Given the description of an element on the screen output the (x, y) to click on. 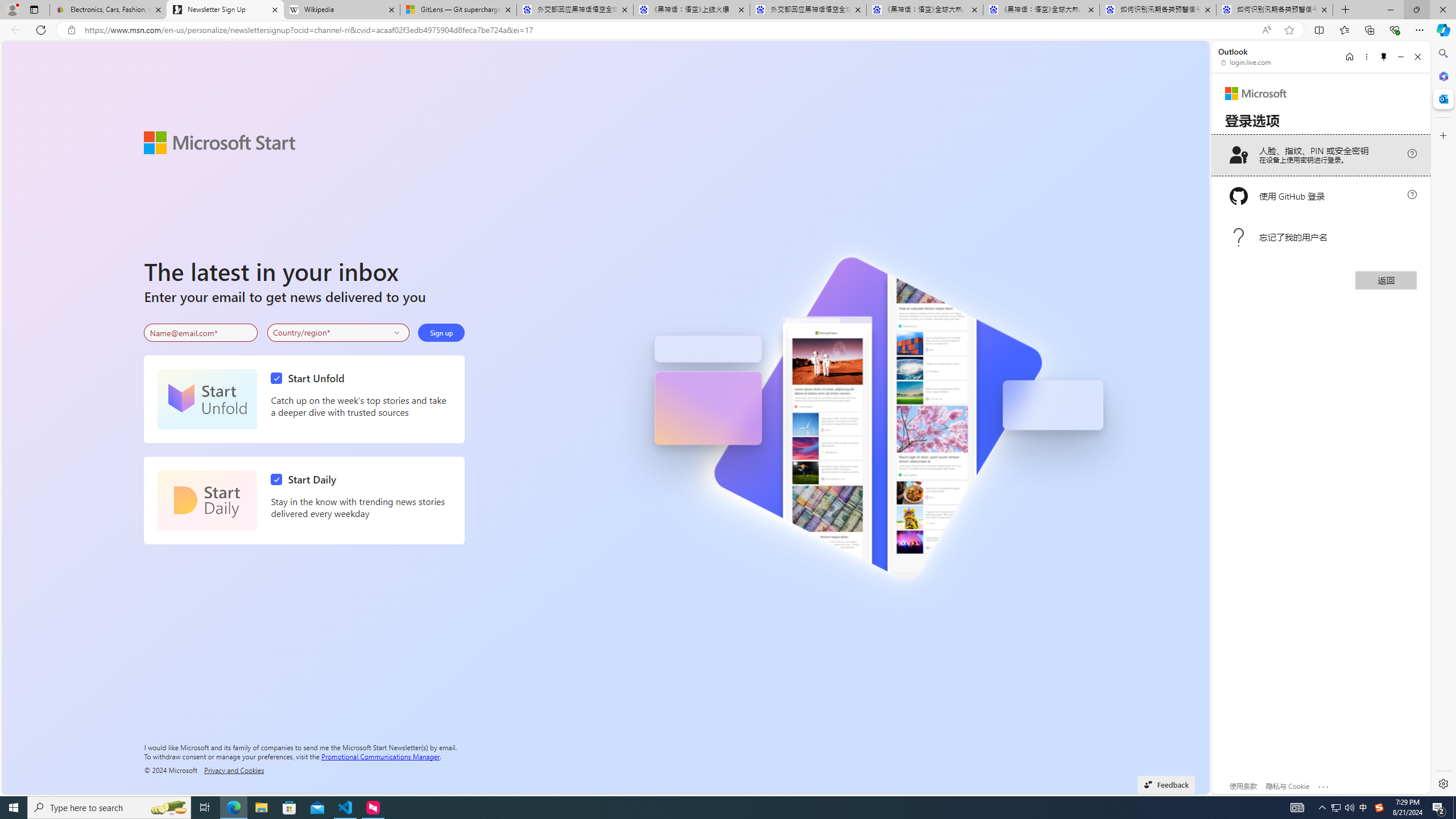
Wikipedia (341, 9)
Sign up (441, 332)
Promotional Communications Manager (380, 755)
login.live.com (1246, 61)
Microsoft (1255, 93)
Unpin side pane (1383, 56)
Privacy and Cookies (233, 769)
Start Unfold (207, 399)
